Given the description of an element on the screen output the (x, y) to click on. 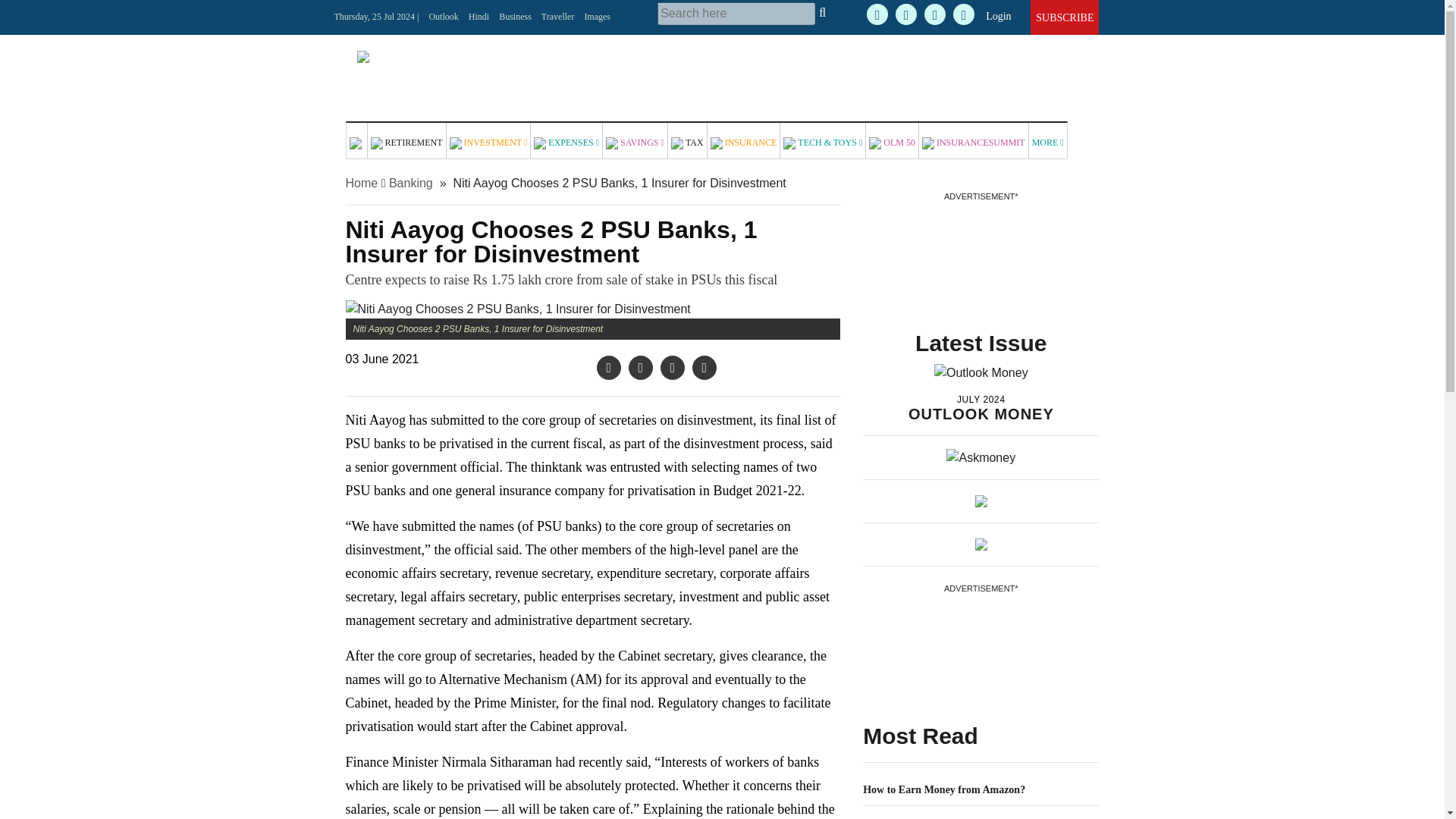
Images (596, 16)
Traveller (558, 16)
Business (515, 16)
SUBSCRIBE (1064, 17)
INSURANCE (743, 140)
RETIREMENT (405, 140)
EXPENSES (566, 140)
INVESTMENT (488, 140)
TAX (687, 140)
Outlook (443, 16)
Login (997, 16)
SAVINGS (635, 140)
Hindi (478, 16)
